Given the description of an element on the screen output the (x, y) to click on. 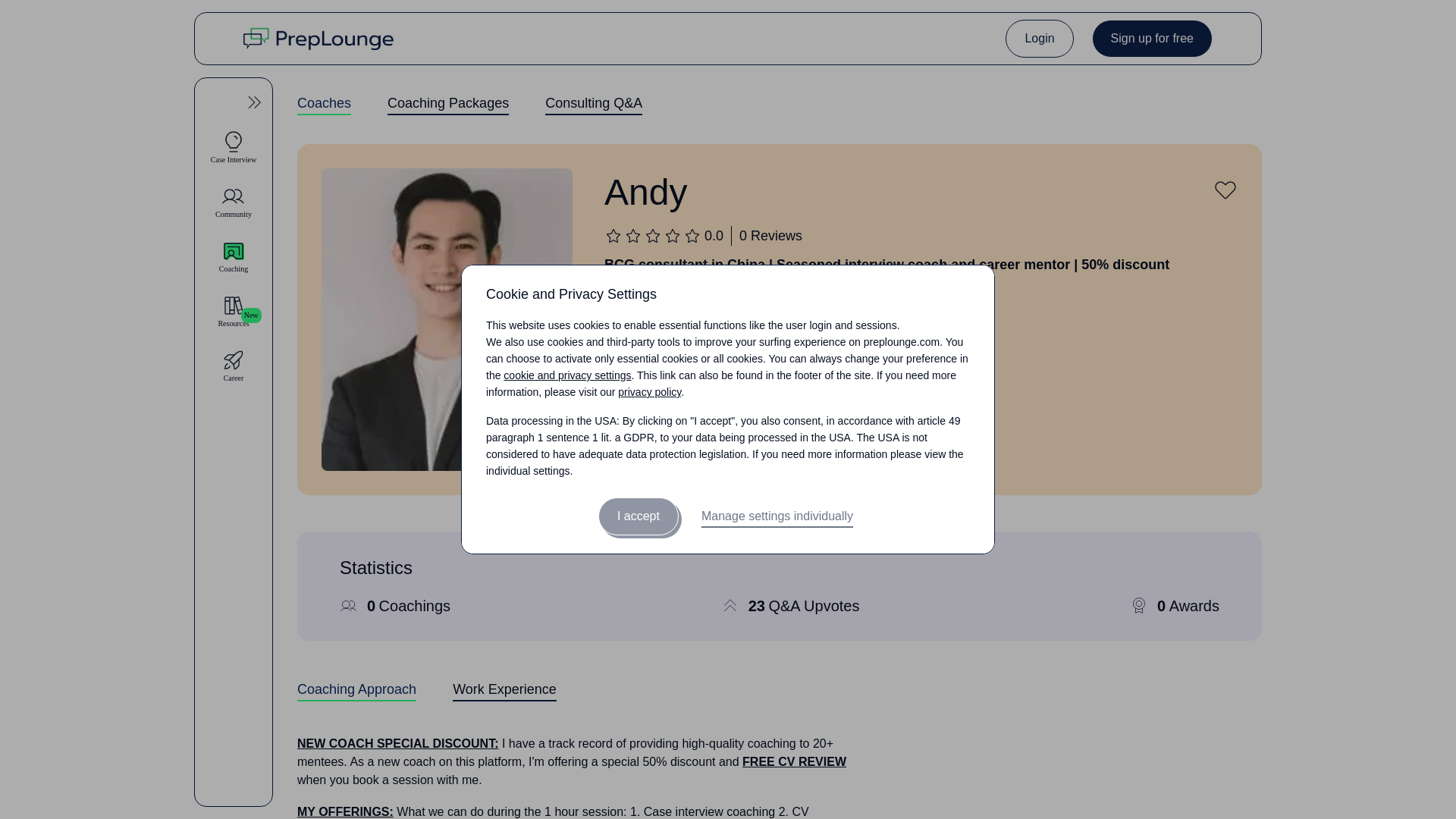
Community (779, 698)
Case Interview (233, 202)
Login (233, 147)
Sign up for free (1039, 38)
